Given the description of an element on the screen output the (x, y) to click on. 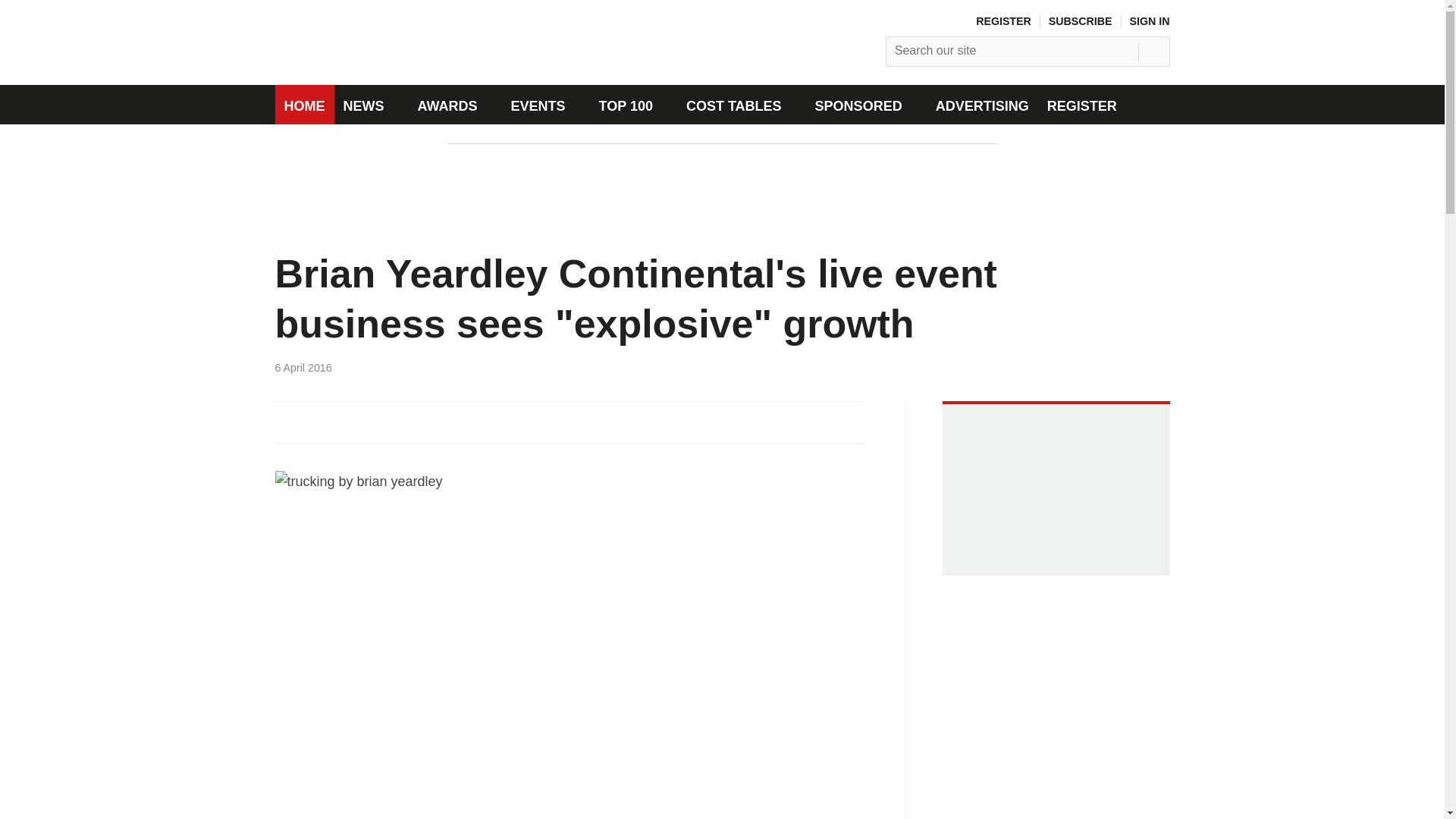
SUBSCRIBE (1080, 21)
Email this article (376, 421)
SIGN IN (1149, 21)
Site name (428, 73)
Share this on Twitter (316, 421)
SEARCH (1156, 48)
Share this on Linked in (345, 421)
Share this on Facebook (286, 421)
REGISTER (1002, 21)
